Given the description of an element on the screen output the (x, y) to click on. 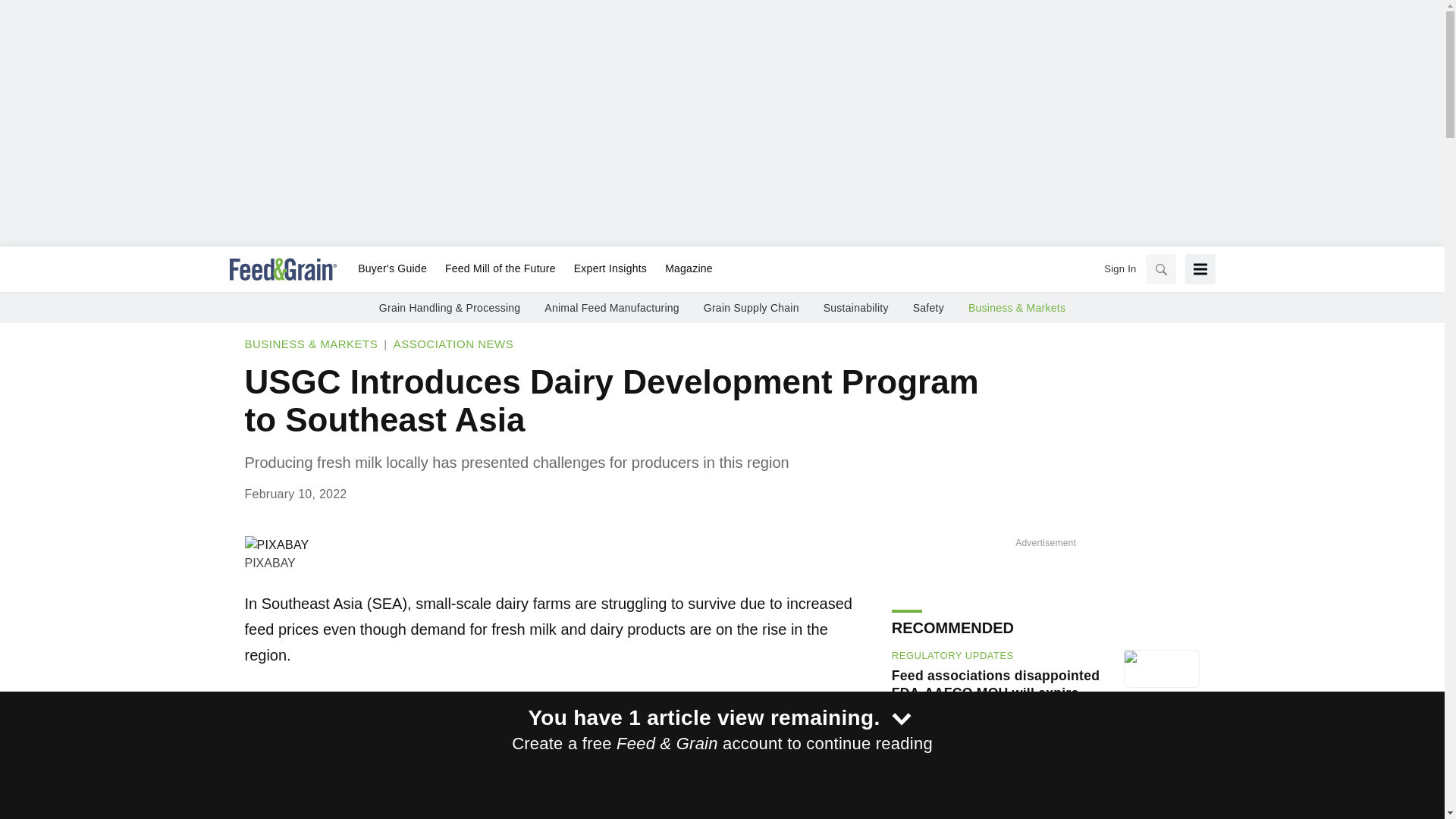
Feed Mill of the Future (499, 269)
Animal Feed Manufacturing (611, 307)
Grain Supply Chain (751, 307)
Sign In (1119, 268)
Sustainability (856, 307)
Buyer's Guide (392, 269)
Expert Insights (610, 269)
Magazine (684, 269)
Safety (927, 307)
Association News (453, 343)
